Given the description of an element on the screen output the (x, y) to click on. 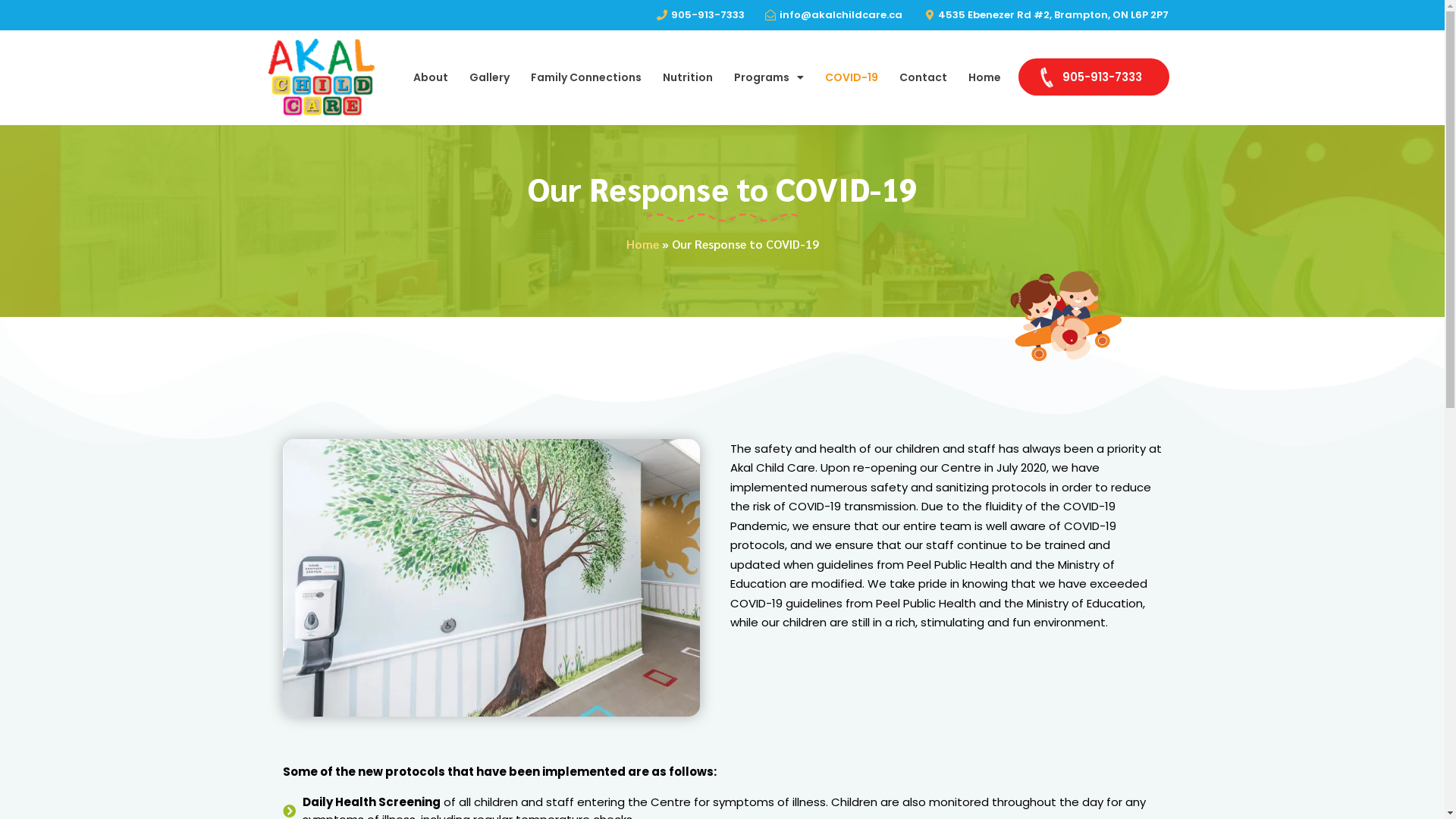
905-913-7333 Element type: text (1093, 76)
Home Element type: text (984, 77)
COVID-19 Element type: text (851, 77)
Gallery Element type: text (489, 77)
Family Connections Element type: text (586, 77)
905-913-7333 Element type: text (698, 14)
Nutrition Element type: text (687, 77)
Contact Element type: text (922, 77)
Home Element type: text (642, 243)
info@akalchildcare.ca Element type: text (832, 14)
Programs Element type: text (768, 77)
About Element type: text (430, 77)
